Given the description of an element on the screen output the (x, y) to click on. 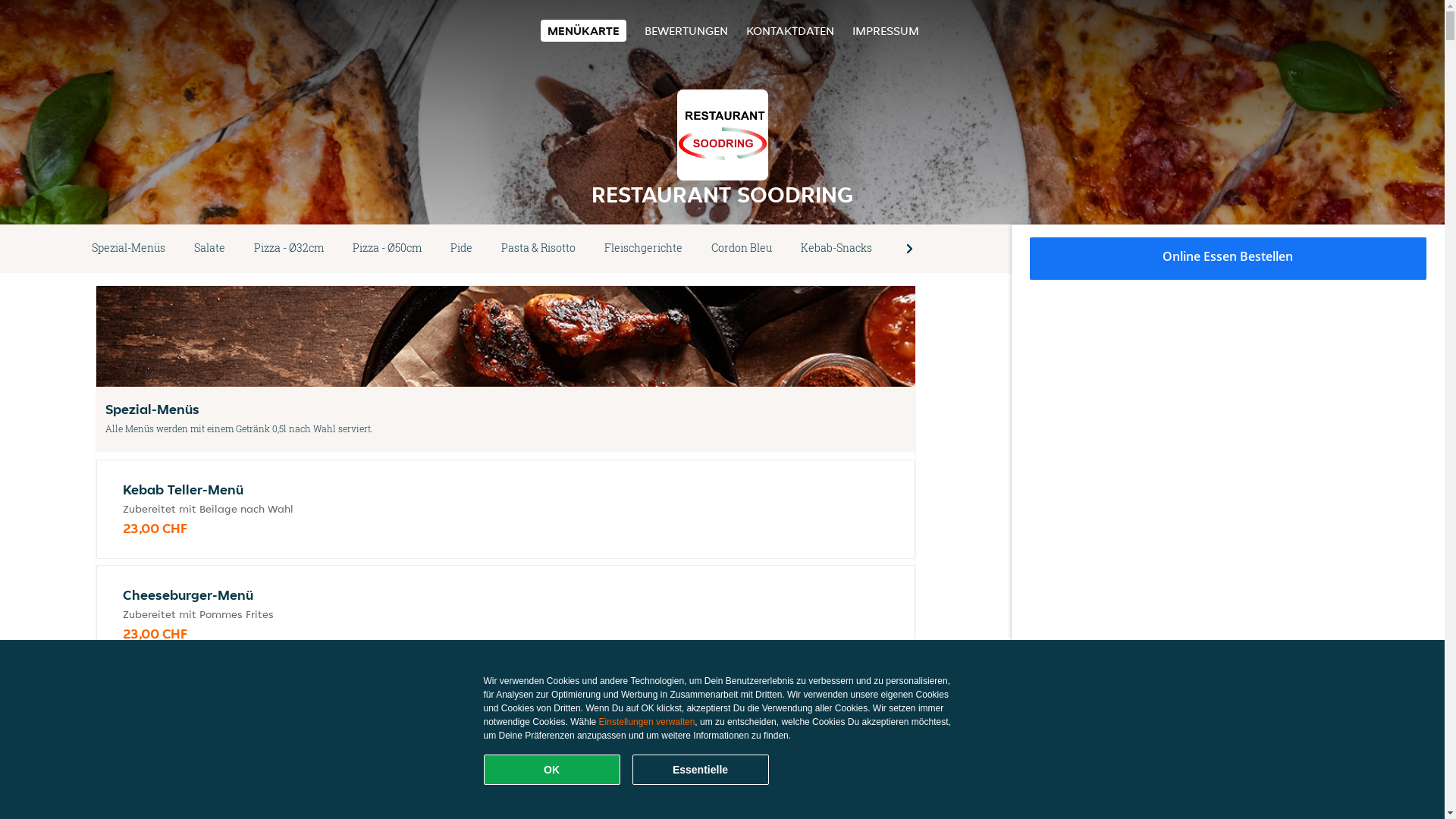
OK Element type: text (551, 769)
IMPRESSUM Element type: text (885, 30)
Pasta & Risotto Element type: text (537, 248)
Essentielle Element type: text (700, 769)
Salate Element type: text (209, 248)
Pide Element type: text (461, 248)
Cordon Bleu Element type: text (741, 248)
BEWERTUNGEN Element type: text (686, 30)
Einstellungen verwalten Element type: text (647, 721)
Online Essen Bestellen Element type: text (1228, 258)
Fleischgerichte Element type: text (642, 248)
KONTAKTDATEN Element type: text (790, 30)
Kebab-Snacks Element type: text (836, 248)
